Given the description of an element on the screen output the (x, y) to click on. 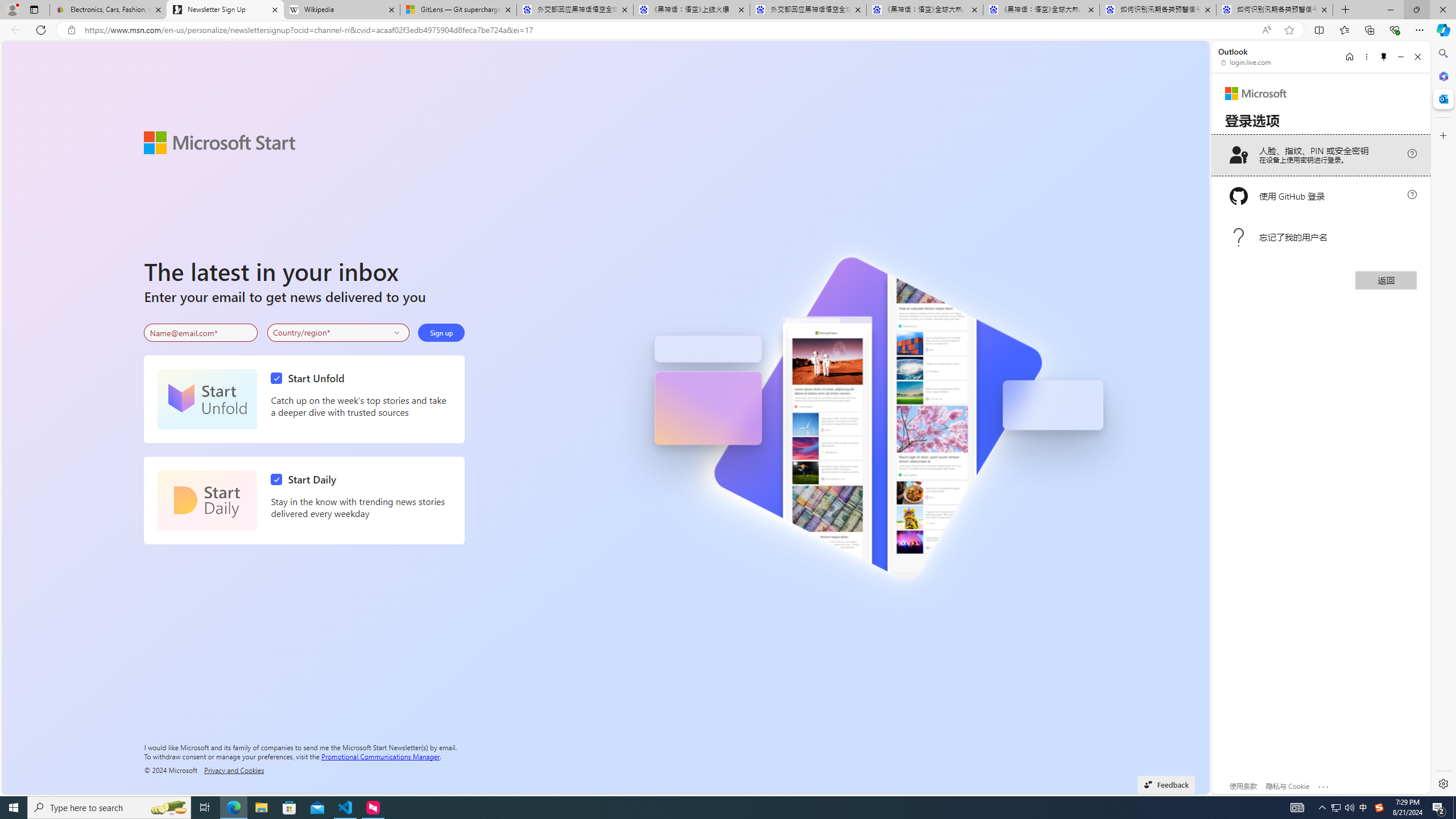
Start Daily (306, 479)
